Given the description of an element on the screen output the (x, y) to click on. 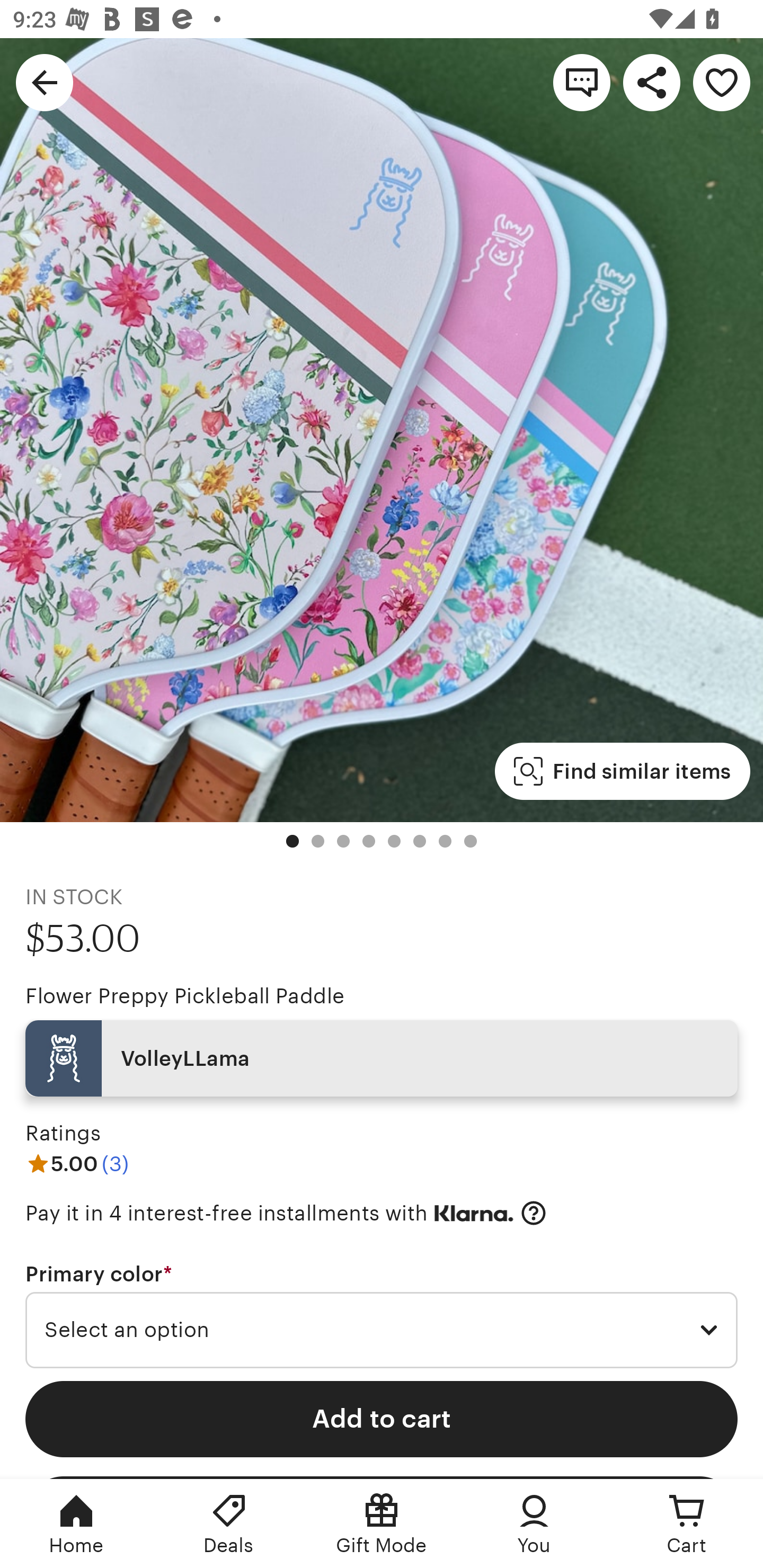
Navigate up (44, 81)
Contact shop (581, 81)
Share (651, 81)
Find similar items (622, 771)
Flower Preppy Pickleball Paddle (184, 996)
VolleyLLama (381, 1058)
Ratings (62, 1133)
5.00 (3) (76, 1163)
Primary color * Required Select an option (381, 1315)
Select an option (381, 1330)
Add to cart (381, 1418)
Deals (228, 1523)
Gift Mode (381, 1523)
You (533, 1523)
Cart (686, 1523)
